Given the description of an element on the screen output the (x, y) to click on. 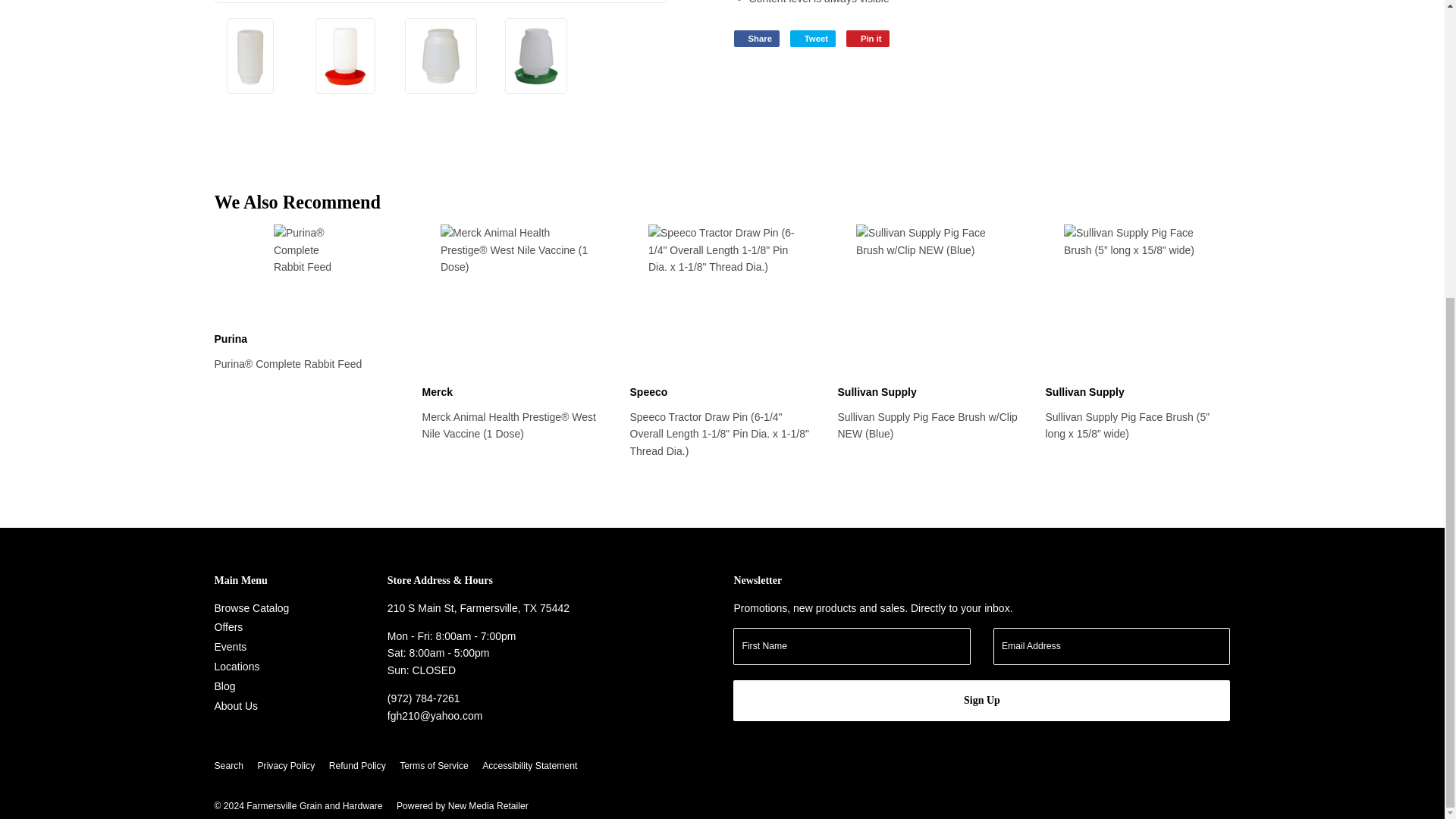
Tweet on Twitter (812, 38)
Pin on Pinterest (867, 38)
Share on Facebook (755, 38)
New Media Retailer (462, 805)
